Given the description of an element on the screen output the (x, y) to click on. 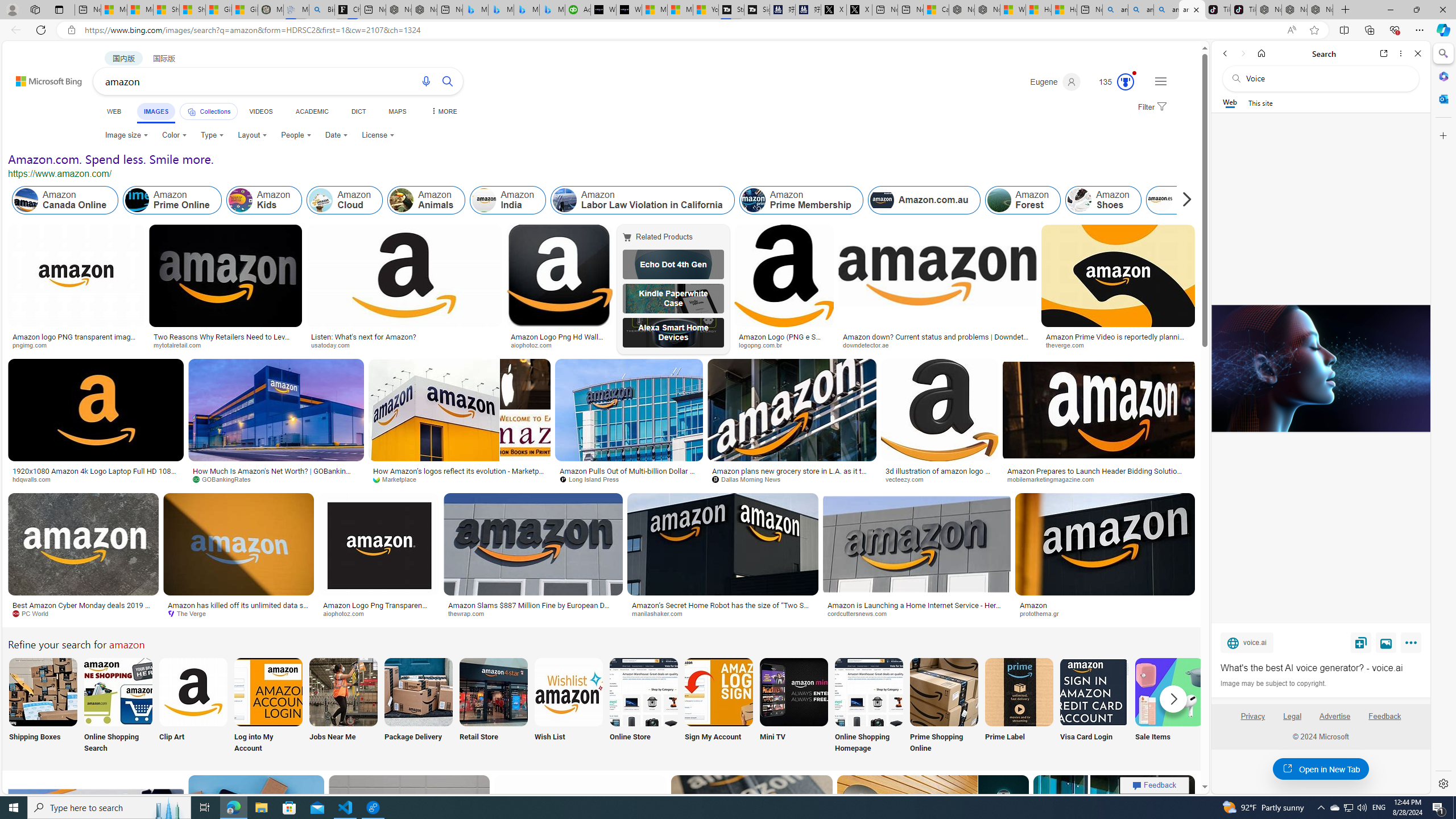
Feedback (1384, 720)
Forward (1242, 53)
Feedback (1384, 715)
Dallas Morning News (791, 479)
Scroll right (1183, 199)
PC World (83, 613)
Dropdown Menu (443, 111)
More (1413, 644)
Date (336, 135)
Amazon Labor Law Violation in California (642, 199)
Dallas Morning News (749, 479)
Amazon Shoes (1103, 199)
